Given the description of an element on the screen output the (x, y) to click on. 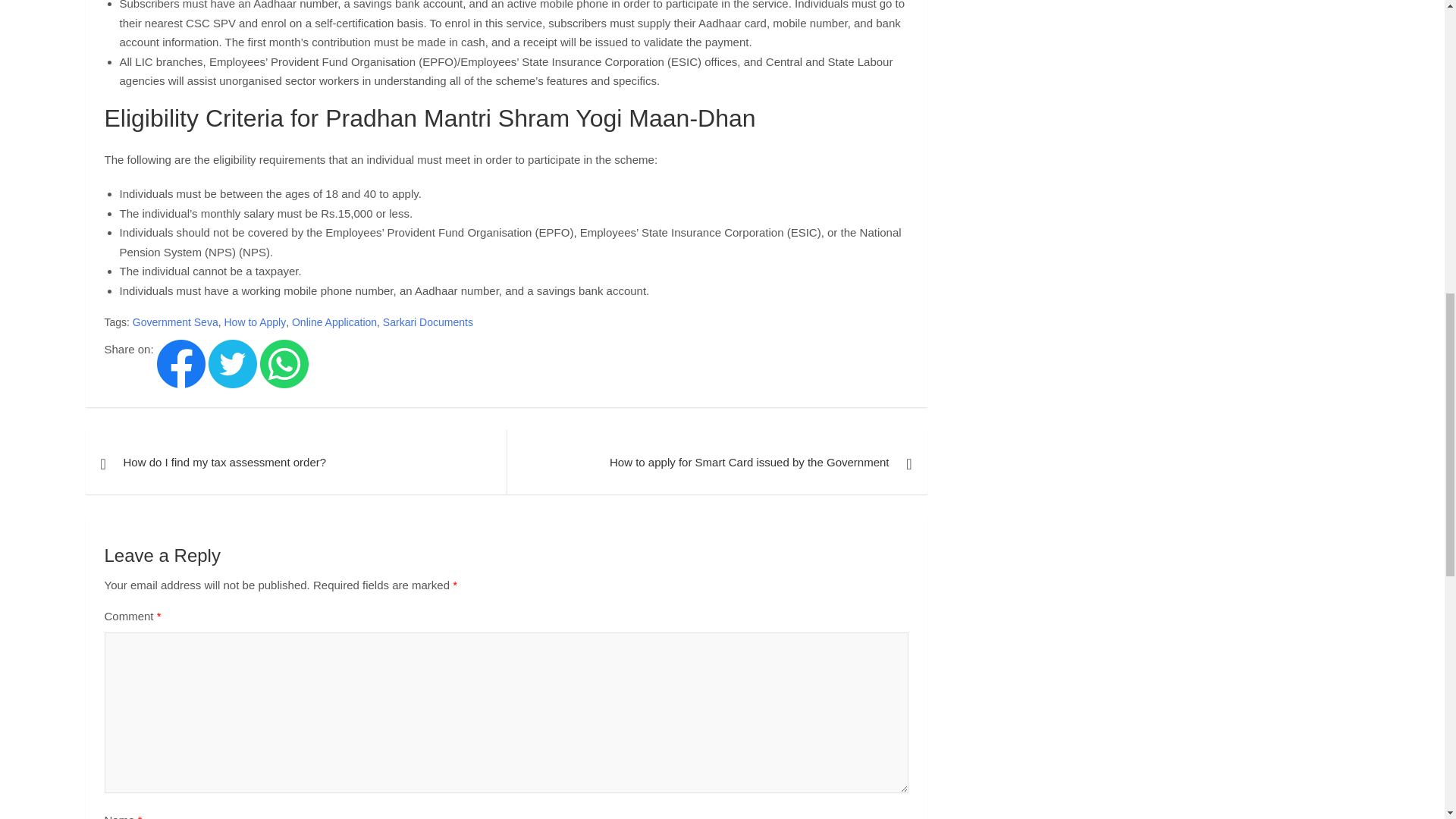
Government Seva (175, 322)
How to Apply (254, 322)
How to apply for Smart Card issued by the Government (716, 462)
Sarkari Documents (427, 322)
Online Application (334, 322)
How do I find my tax assessment order? (294, 462)
